Given the description of an element on the screen output the (x, y) to click on. 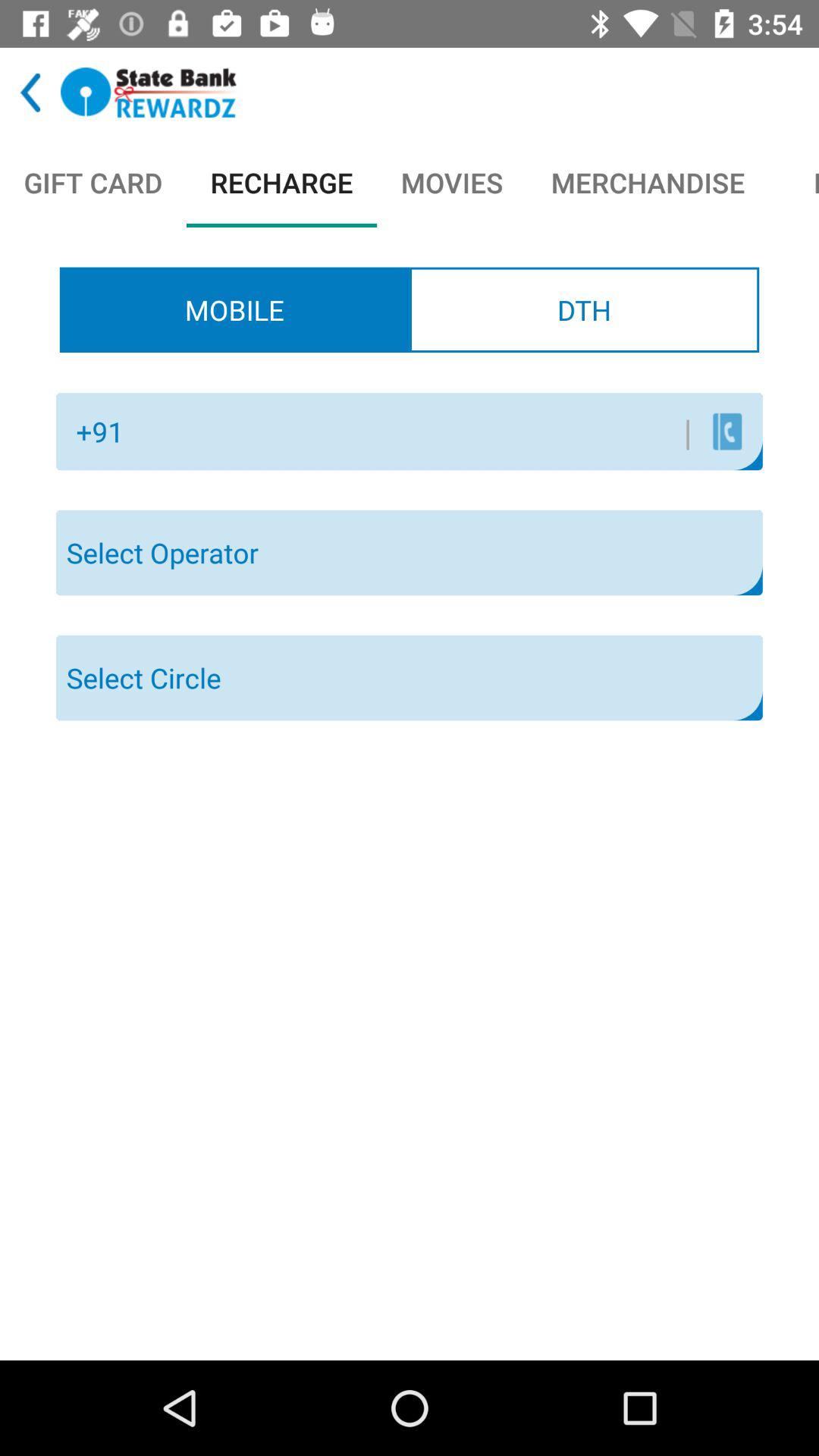
view address book (727, 431)
